Given the description of an element on the screen output the (x, y) to click on. 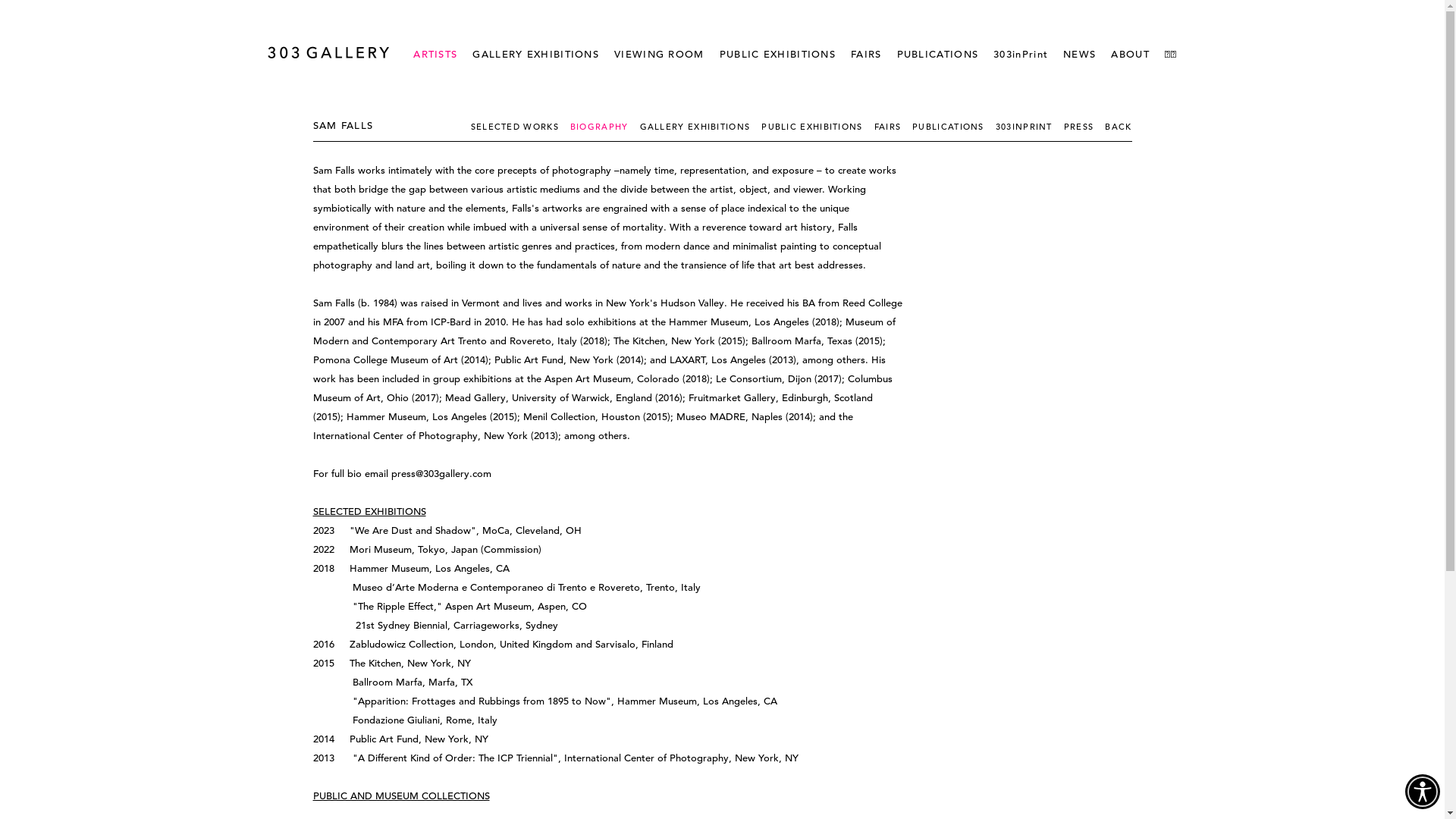
NEWS Element type: text (1079, 54)
SELECTED WORKS Element type: text (520, 126)
BACK Element type: text (1117, 126)
FAIRS Element type: text (865, 54)
PUBLIC EXHIBITIONS Element type: text (817, 126)
303INPRINT Element type: text (1029, 126)
303inPrint Element type: text (1020, 54)
ABOUT Element type: text (1129, 54)
PUBLIC EXHIBITIONS Element type: text (777, 54)
PUBLICATIONS Element type: text (938, 54)
VIEWING ROOM Element type: text (659, 54)
GALLERY EXHIBITIONS Element type: text (701, 126)
PRESS Element type: text (1084, 126)
PUBLICATIONS Element type: text (953, 126)
BIOGRAPHY Element type: text (605, 126)
FAIRS Element type: text (893, 126)
ARTISTS Element type: text (435, 54)
GALLERY EXHIBITIONS Element type: text (535, 54)
